Given the description of an element on the screen output the (x, y) to click on. 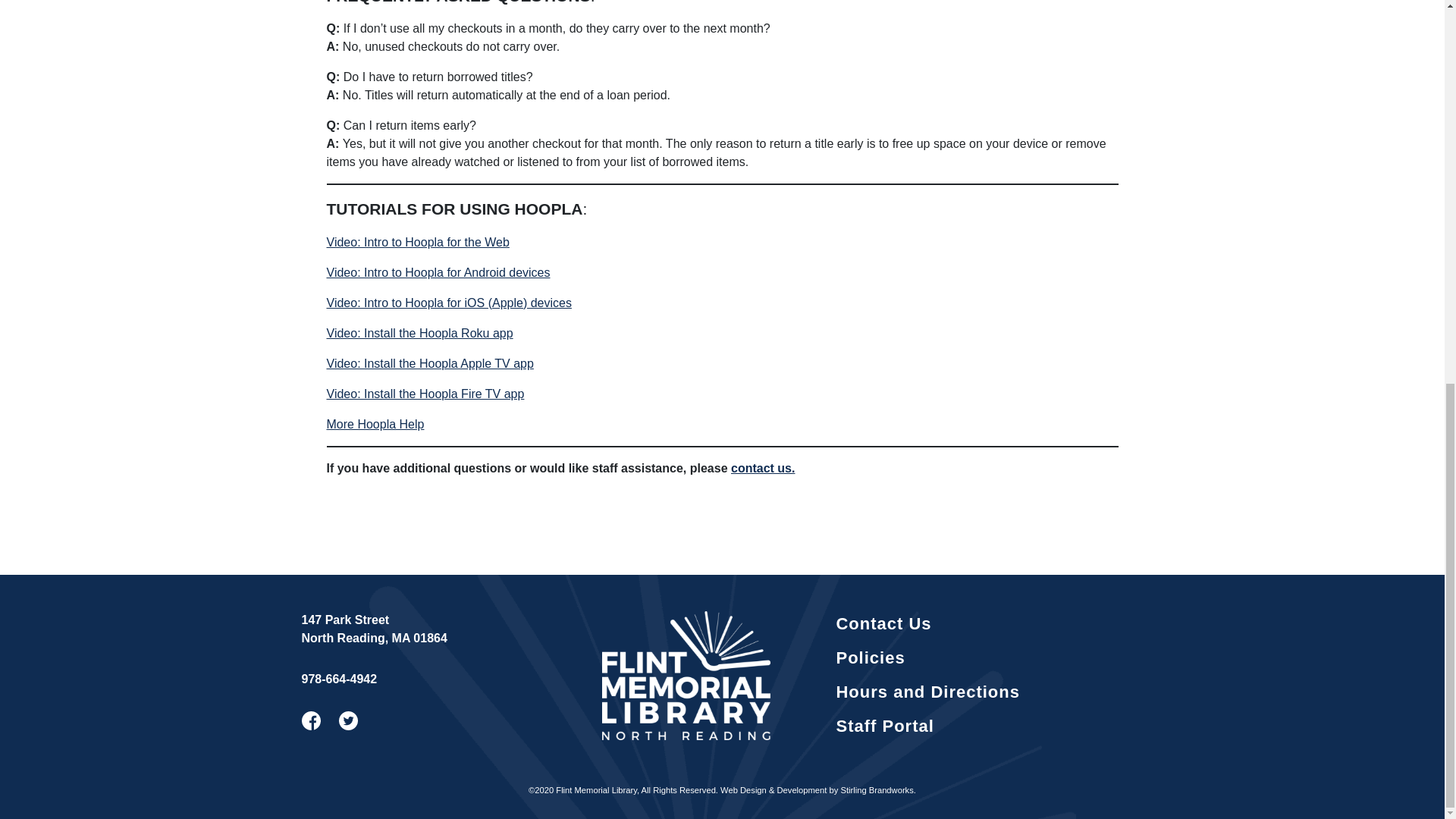
Twitter (348, 719)
Facebook (310, 719)
